Given the description of an element on the screen output the (x, y) to click on. 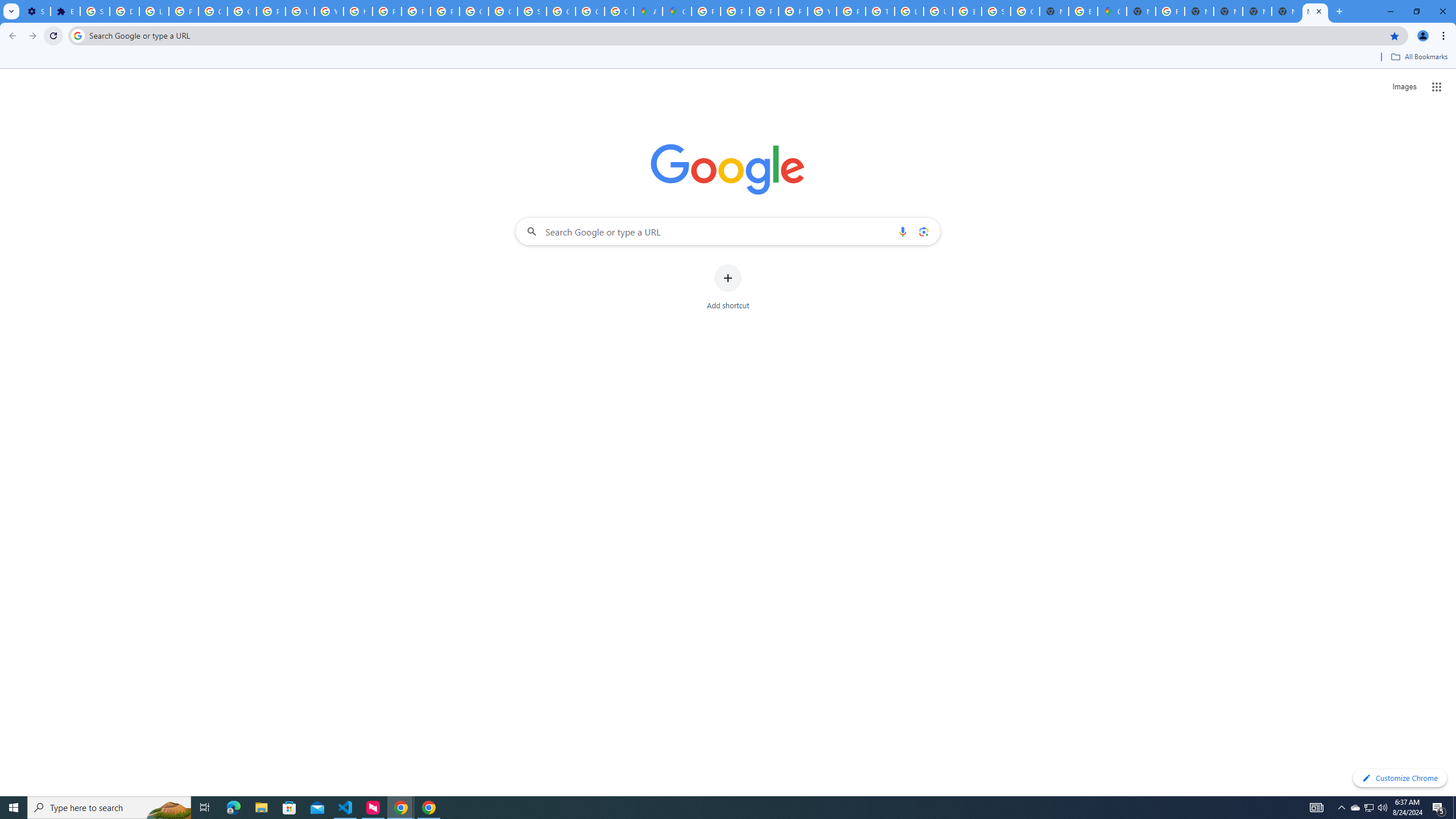
Delete photos & videos - Computer - Google Photos Help (124, 11)
Add shortcut (727, 287)
https://scholar.google.com/ (357, 11)
Privacy Help Center - Policies Help (734, 11)
Sign in - Google Accounts (996, 11)
New Tab (1286, 11)
Learn how to find your photos - Google Photos Help (153, 11)
Sign in - Google Accounts (95, 11)
